Given the description of an element on the screen output the (x, y) to click on. 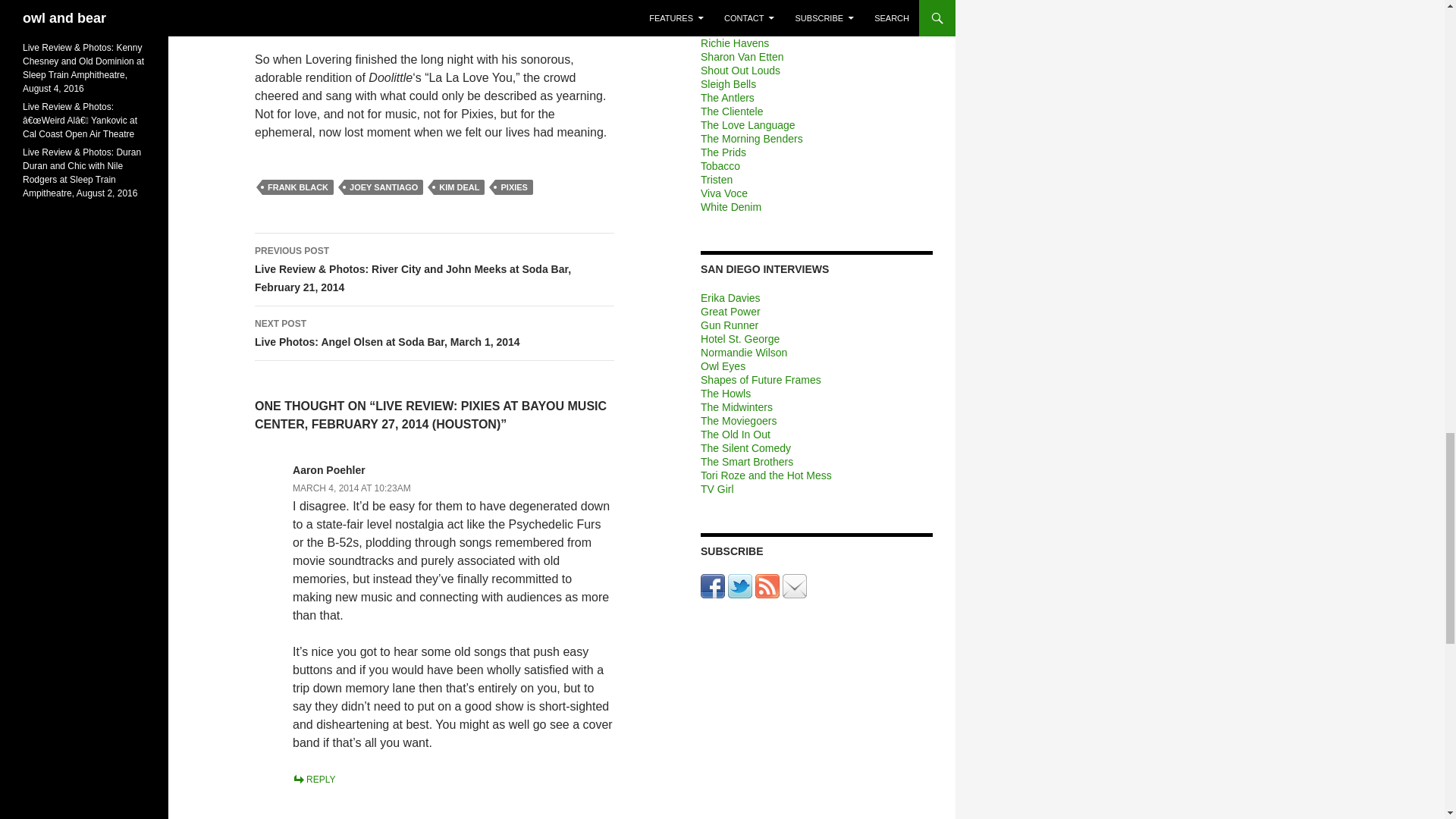
PIXIES (513, 186)
KIM DEAL (458, 186)
JOEY SANTIAGO (383, 186)
FRANK BLACK (297, 186)
